Given the description of an element on the screen output the (x, y) to click on. 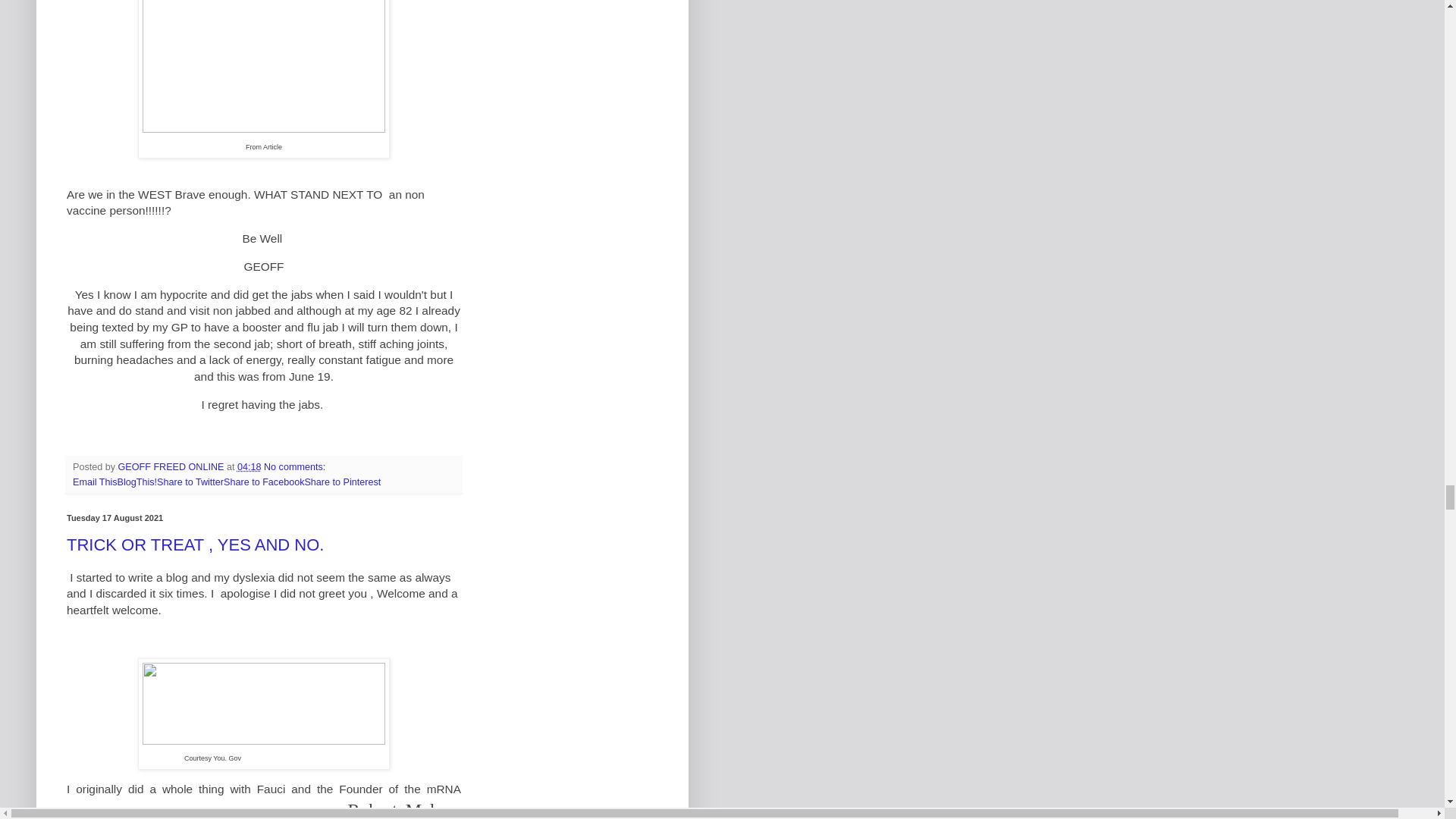
Share to Twitter (190, 481)
permanent link (249, 466)
BlogThis! (137, 481)
Share to Facebook (264, 481)
Email This (94, 481)
author profile (172, 466)
